Given the description of an element on the screen output the (x, y) to click on. 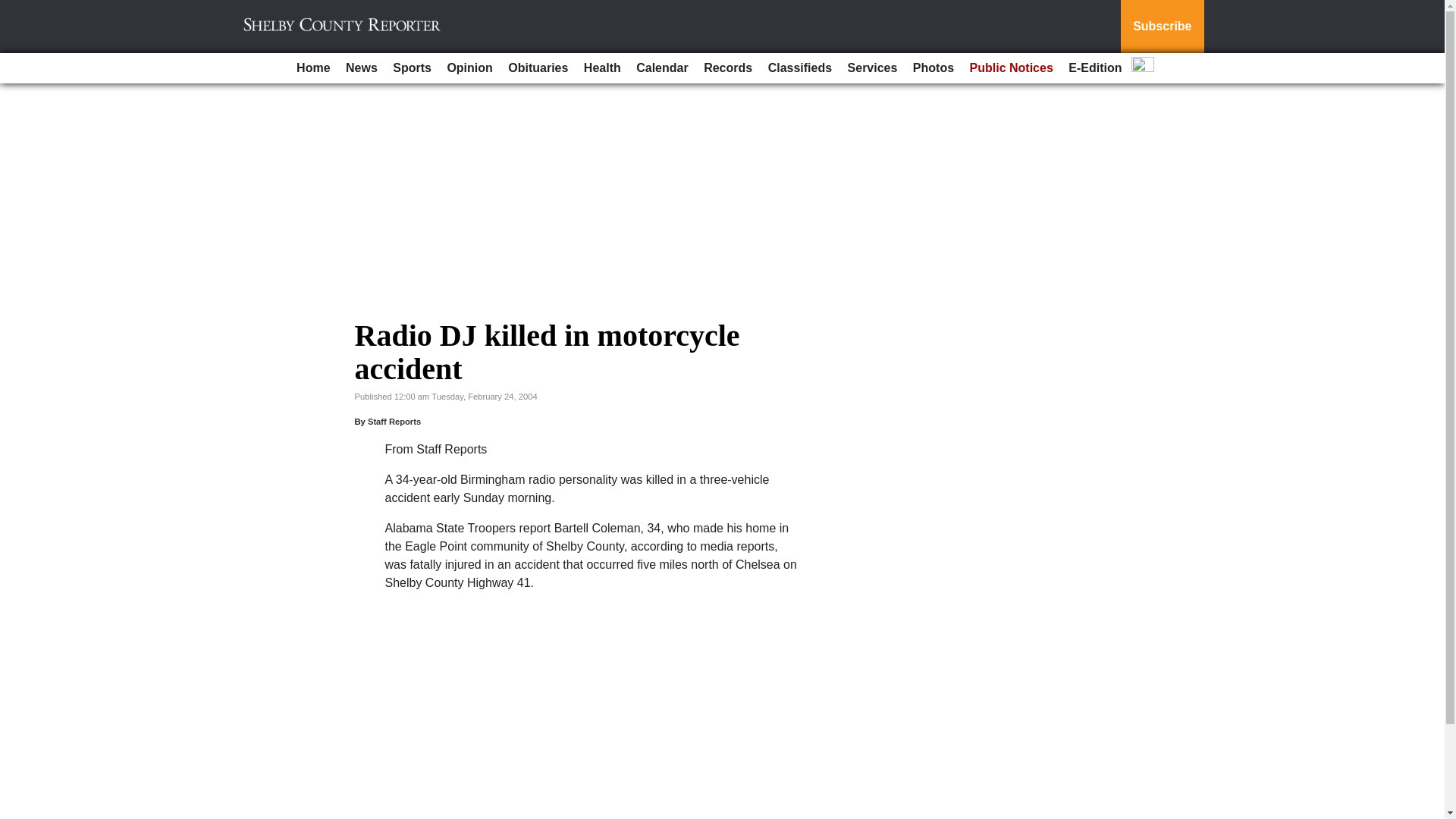
Calendar (662, 68)
News (361, 68)
Health (602, 68)
Records (727, 68)
Subscribe (1162, 26)
Sports (412, 68)
Opinion (469, 68)
Home (312, 68)
Obituaries (537, 68)
Classifieds (799, 68)
Services (872, 68)
